Given the description of an element on the screen output the (x, y) to click on. 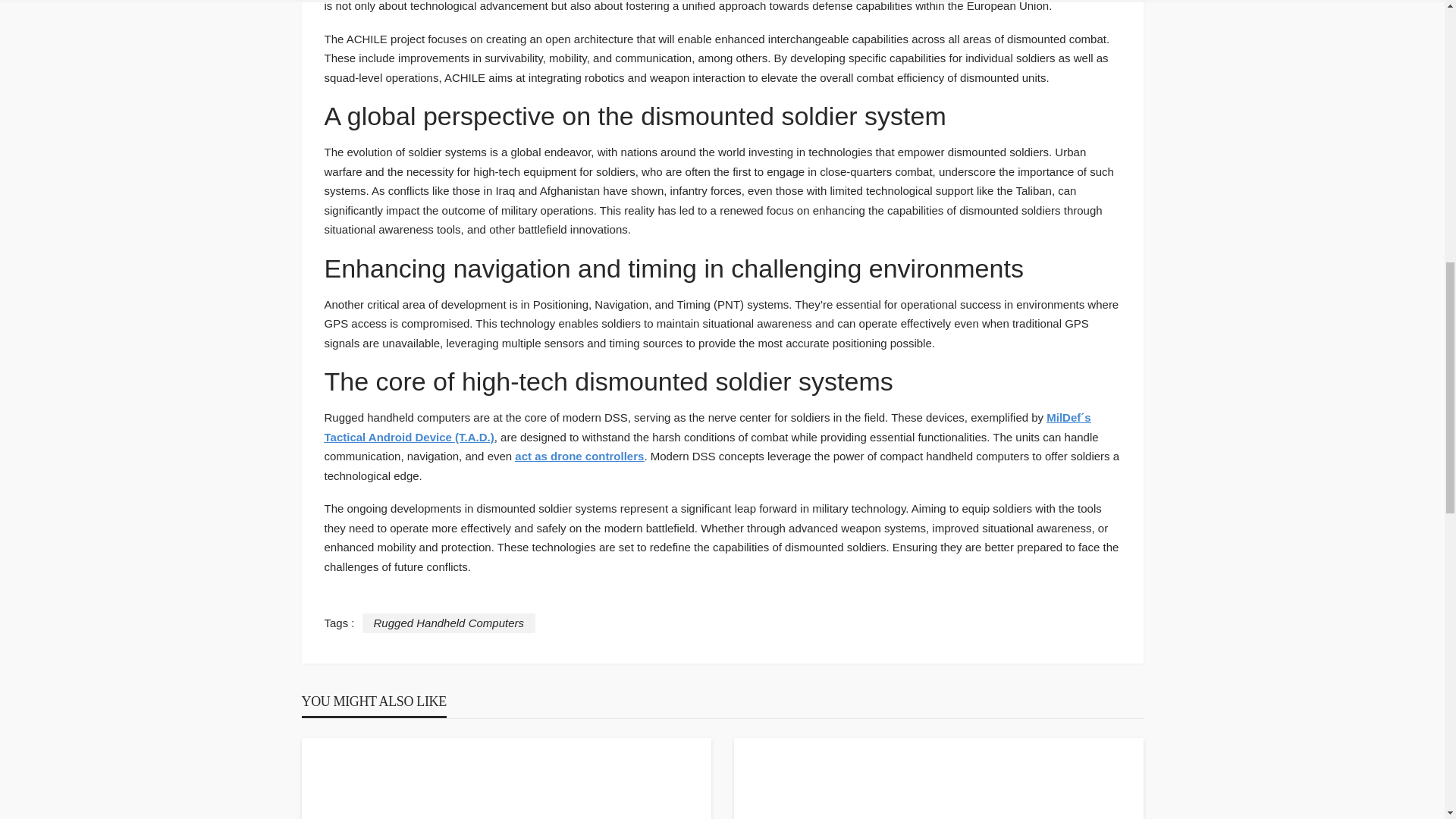
Rugged Handheld Computers (448, 623)
Rugged Handheld Computers (448, 623)
act as drone controllers (579, 455)
